Given the description of an element on the screen output the (x, y) to click on. 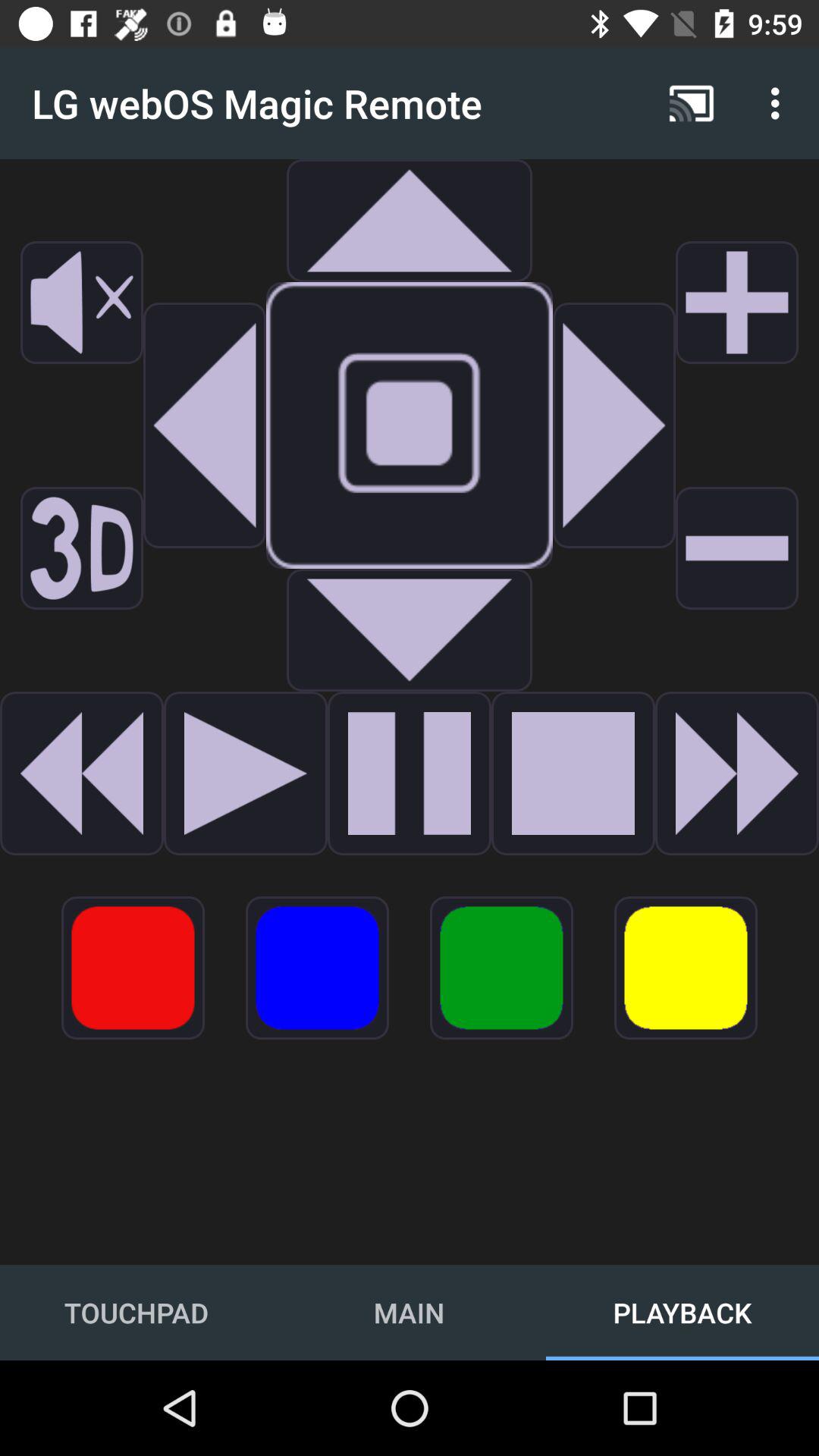
creat message (81, 773)
